Given the description of an element on the screen output the (x, y) to click on. 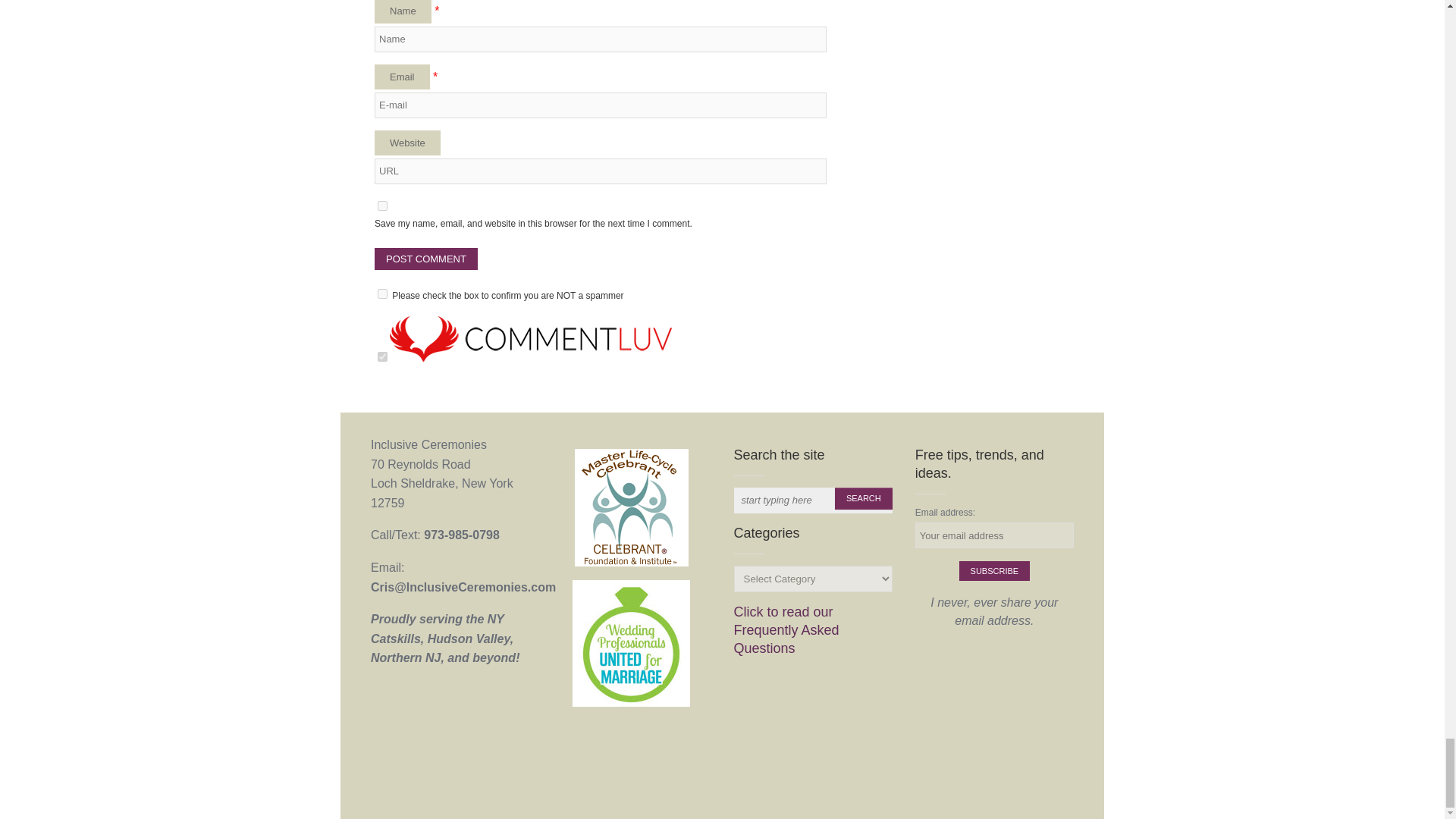
Subscribe (994, 570)
Search (863, 498)
Click to read our Frequently Asked Questions (786, 630)
Subscribe (994, 570)
yes (382, 205)
on (382, 356)
Post Comment (425, 259)
Post Comment (425, 259)
Search (863, 498)
on (382, 293)
